Given the description of an element on the screen output the (x, y) to click on. 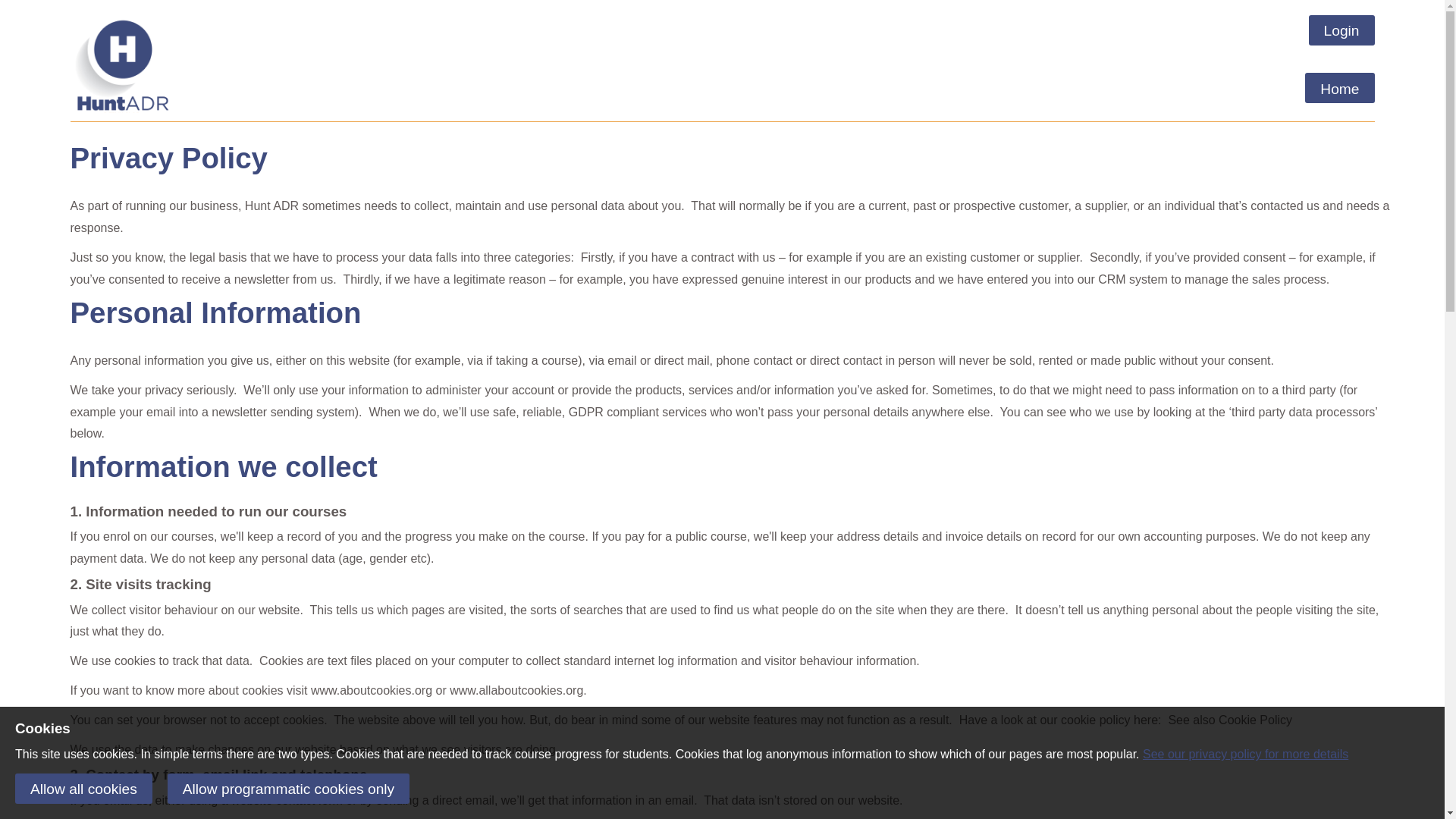
Home (1339, 87)
Allow all cookies (83, 788)
See our privacy policy for more details (1245, 753)
Allow programmatic cookies only (288, 788)
Login (1341, 30)
